Given the description of an element on the screen output the (x, y) to click on. 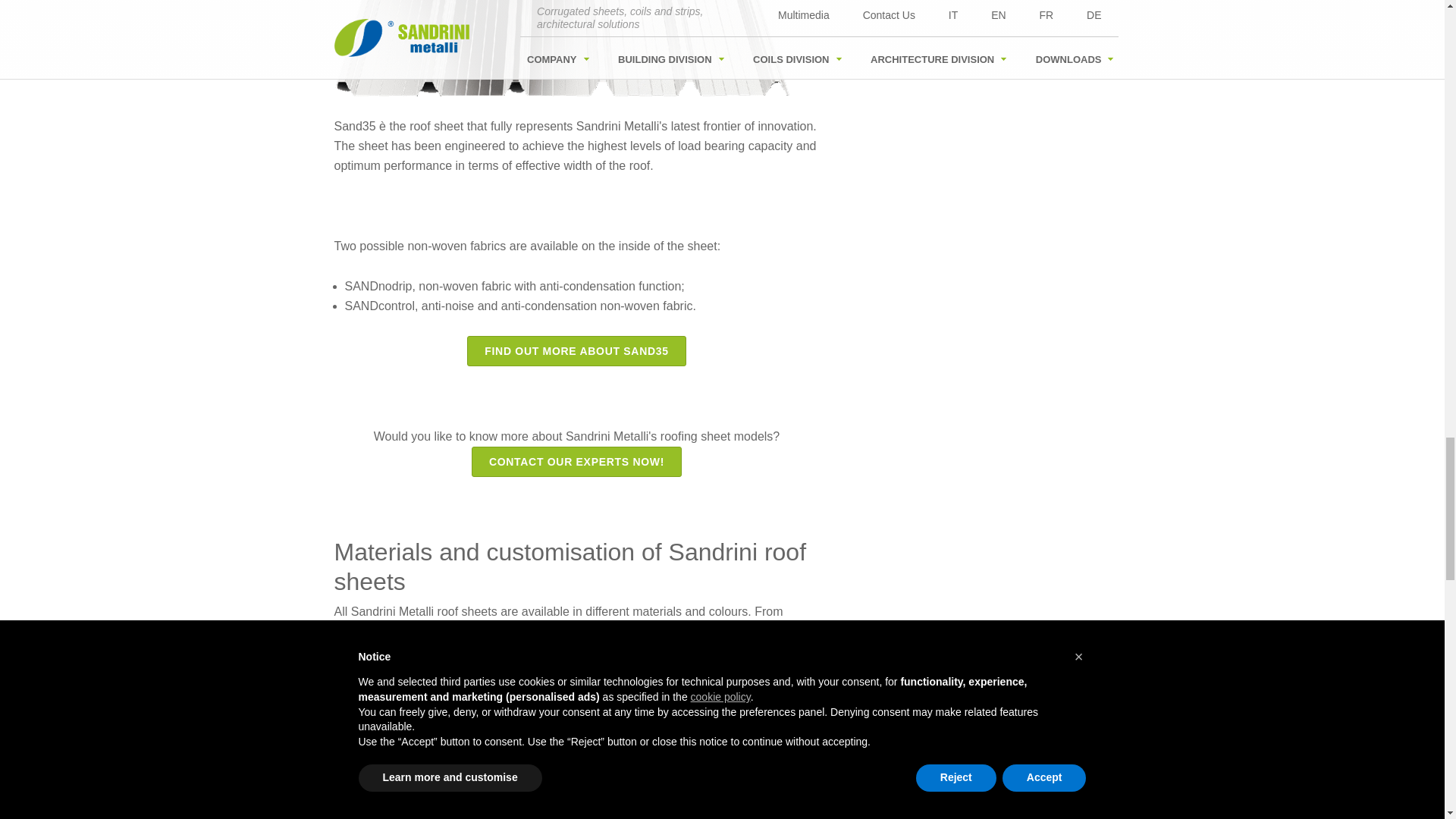
sand35 (561, 48)
